Given the description of an element on the screen output the (x, y) to click on. 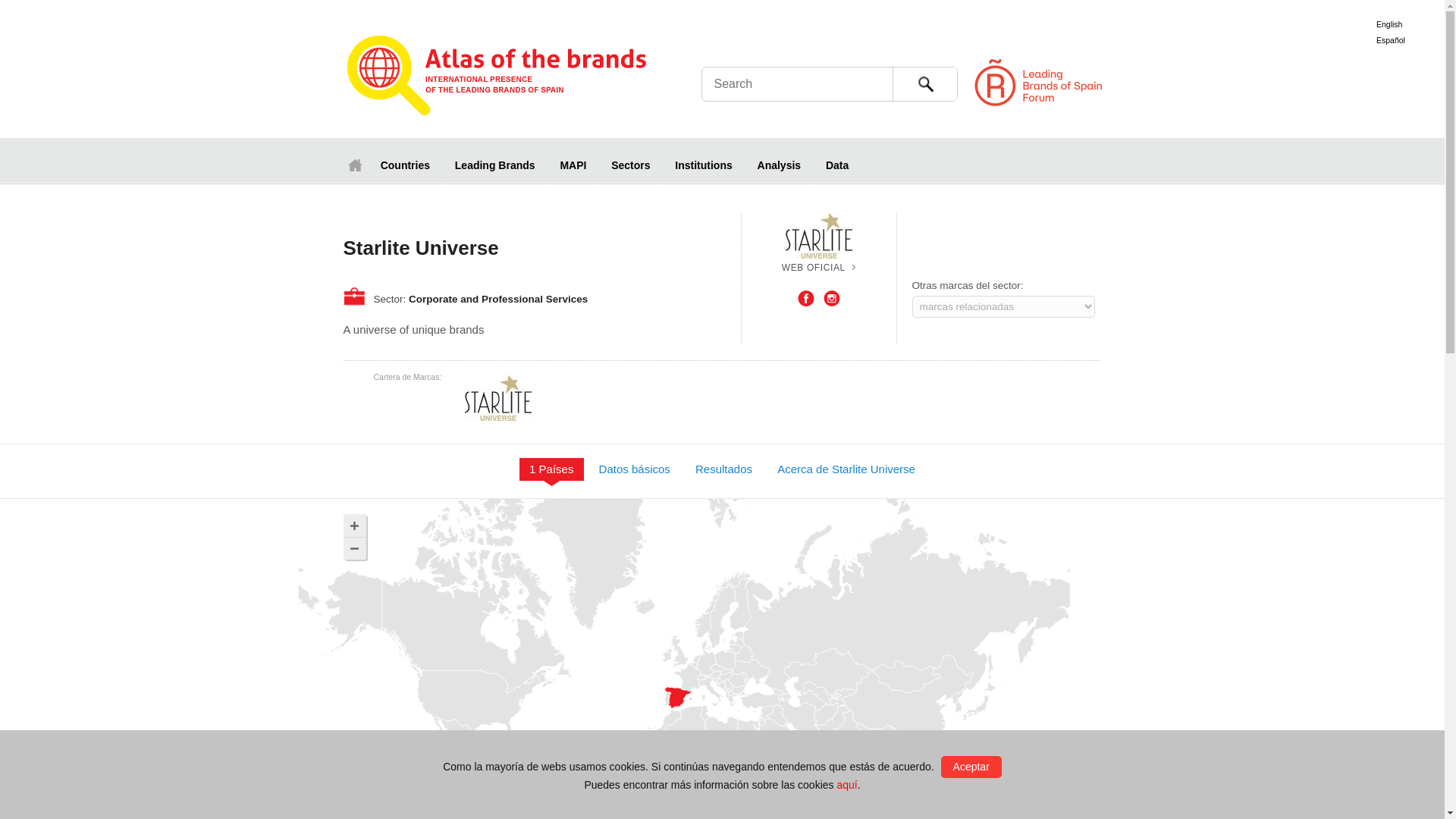
- (353, 548)
Countries (405, 164)
Institutions (702, 164)
Search (922, 83)
Starlite Universe (819, 267)
Resultados (722, 469)
Acerca de Starlite Universe (846, 469)
Instagram (831, 298)
Data (836, 164)
Instagram (831, 298)
English (1388, 23)
Atlas de marcas (495, 77)
Analysis (778, 164)
Leading Brands (495, 164)
MAPI (572, 164)
